Given the description of an element on the screen output the (x, y) to click on. 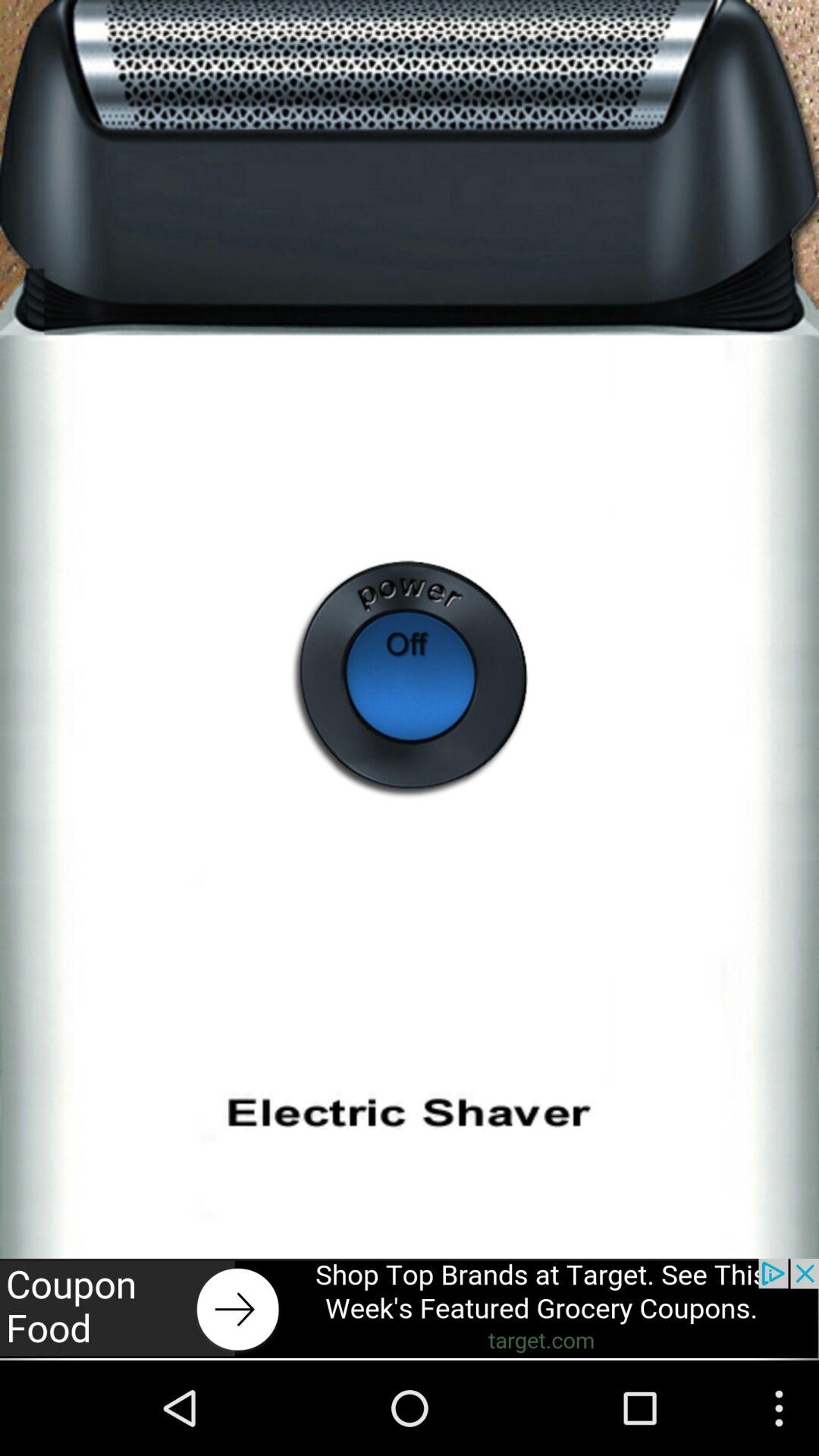
advertisement (409, 1308)
